Given the description of an element on the screen output the (x, y) to click on. 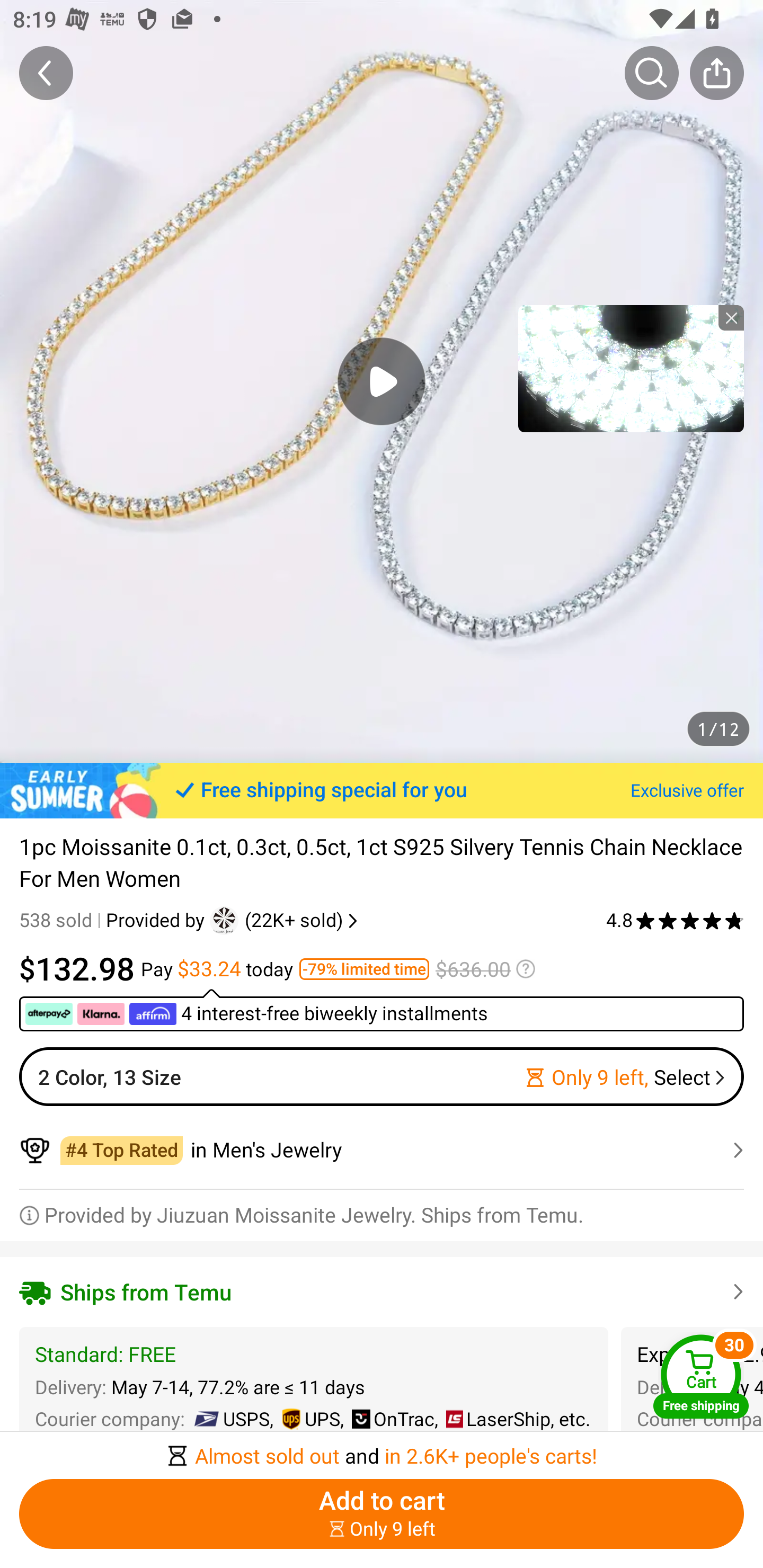
Back (46, 72)
Share (716, 72)
tronplayer_view (631, 368)
Free shipping special for you Exclusive offer (381, 790)
538 sold Provided by  (114, 920)
4.8 (674, 920)
￼ ￼ ￼ 4 interest-free biweekly installments (381, 1009)
2 Color, 13 Size   Only 9 left, Select (381, 1076)
￼￼in Men's Jewelry (381, 1149)
Ships from Temu (381, 1291)
Cart Free shipping Cart (701, 1375)
￼￼Almost sold out and in 2.6K+ people's carts! (381, 1450)
Add to cart ￼￼Only 9 left (381, 1513)
